Given the description of an element on the screen output the (x, y) to click on. 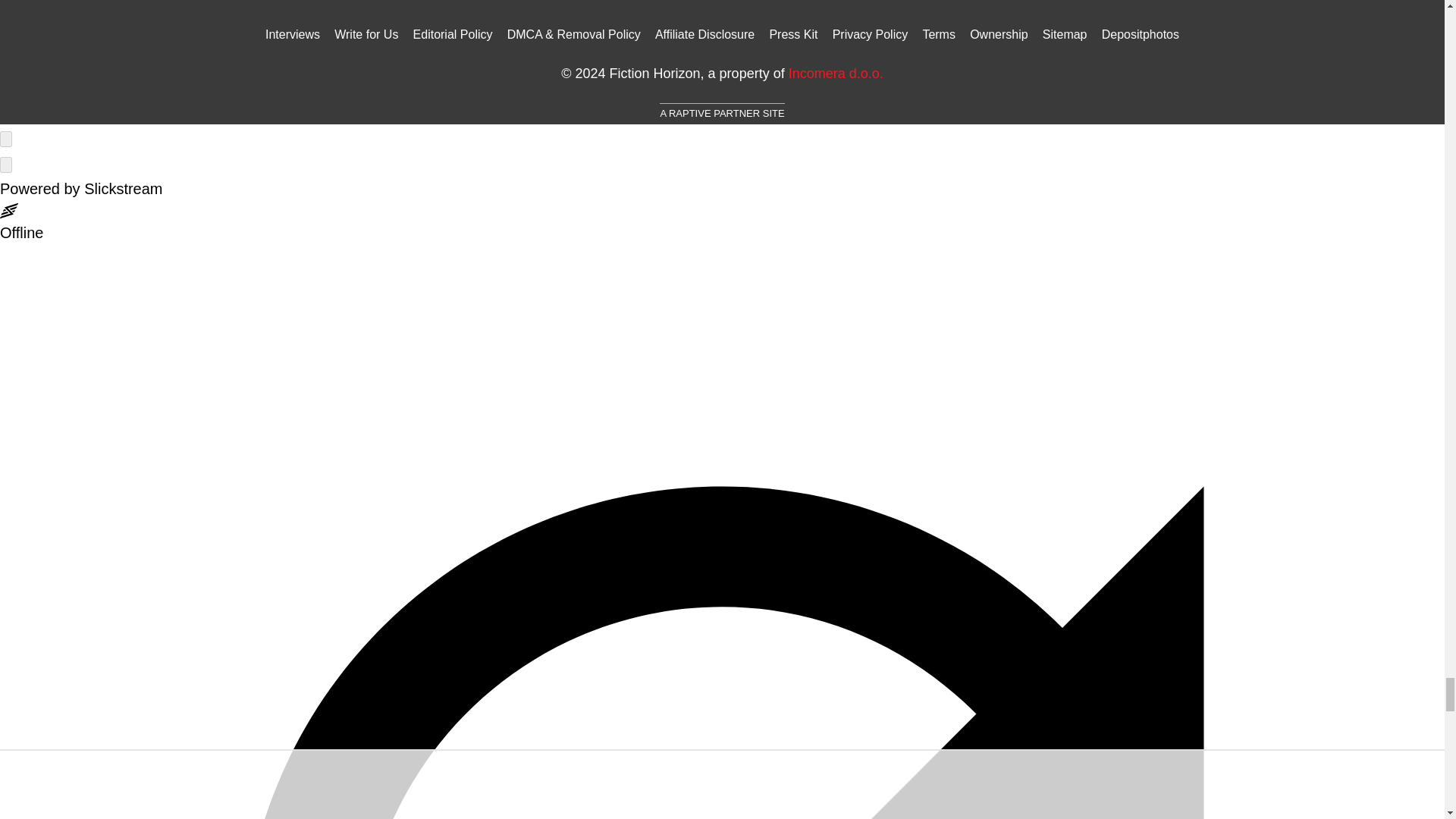
Incomera d.o.o. (836, 73)
